Given the description of an element on the screen output the (x, y) to click on. 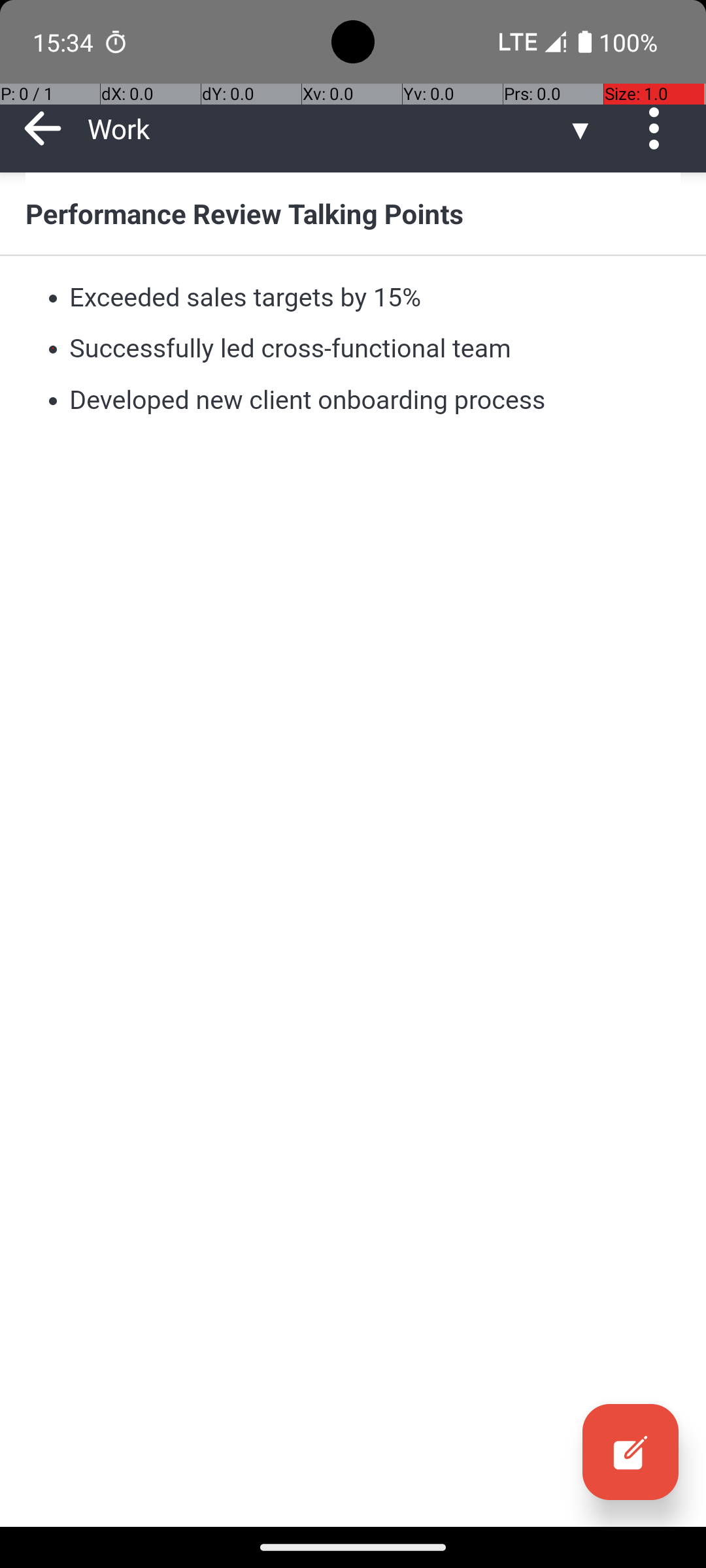
Performance Review Talking Points Element type: android.widget.EditText (352, 213)
•  Element type: android.view.View (52, 296)
Exceeded sales targets by 15% Element type: android.widget.TextView (244, 296)
Successfully led cross-functional team Element type: android.widget.TextView (289, 348)
Developed new client onboarding process Element type: android.widget.TextView (307, 399)
